Given the description of an element on the screen output the (x, y) to click on. 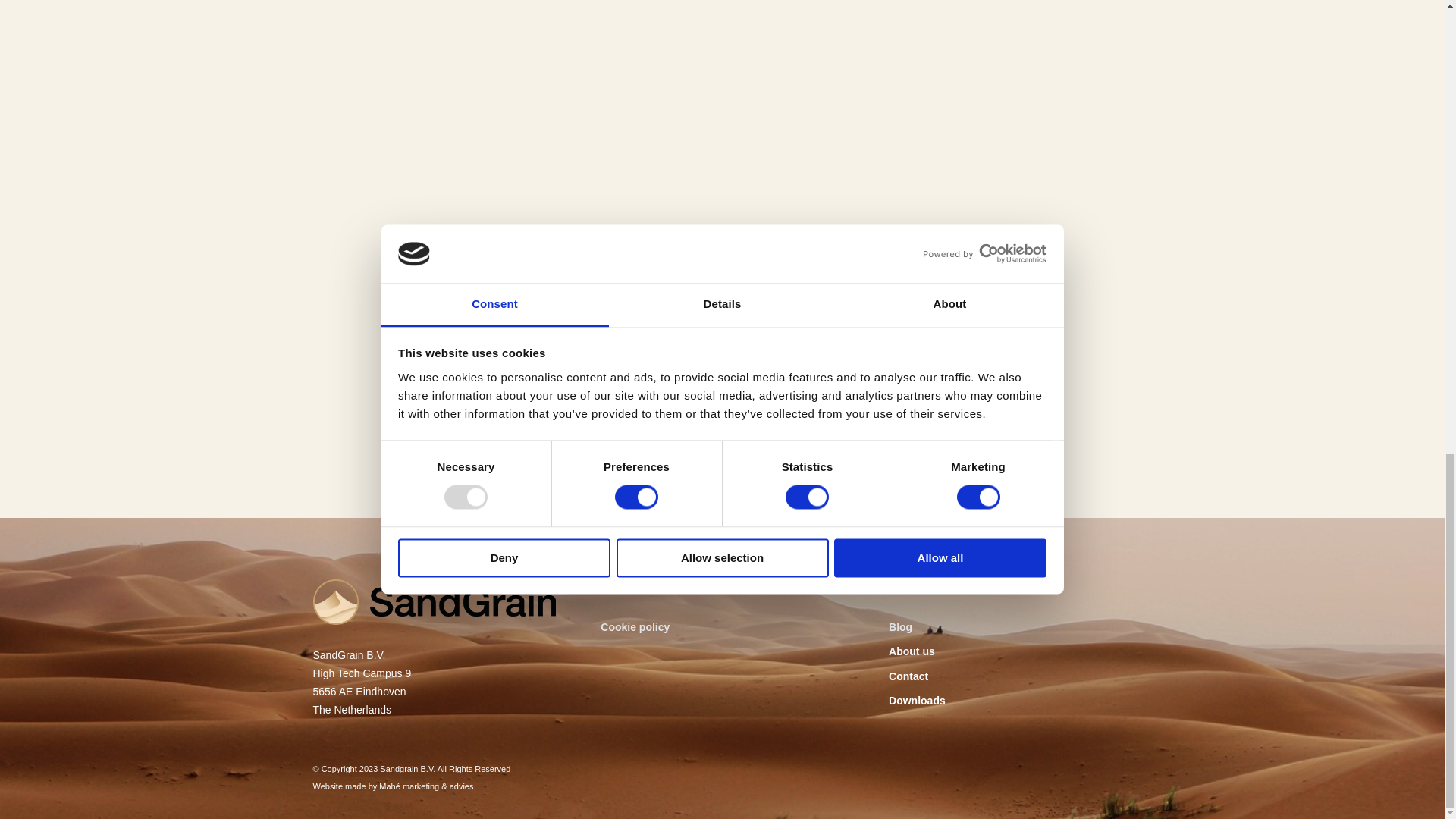
logo sandgrain (433, 601)
